Given the description of an element on the screen output the (x, y) to click on. 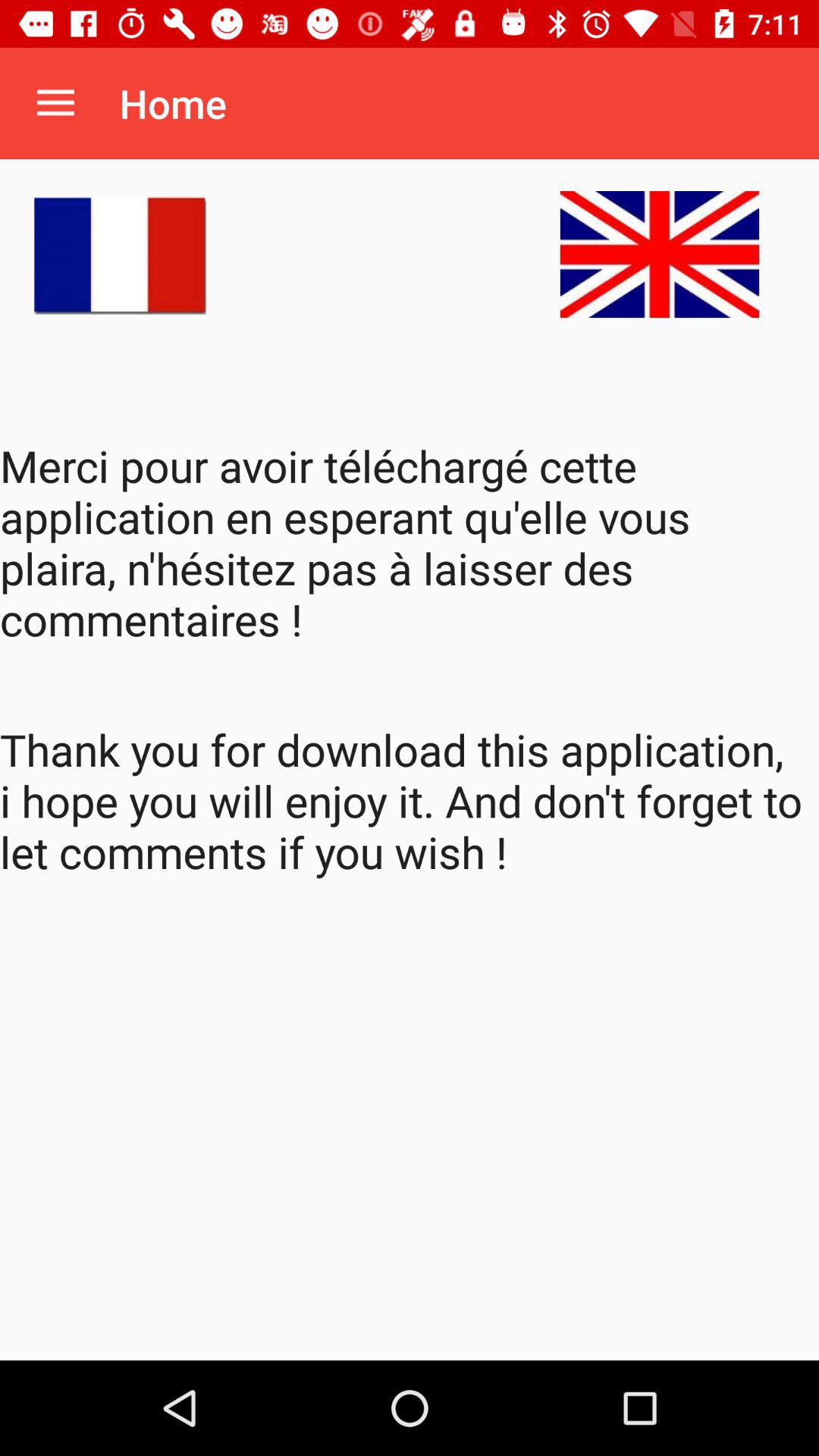
select item next to the home app (55, 103)
